Given the description of an element on the screen output the (x, y) to click on. 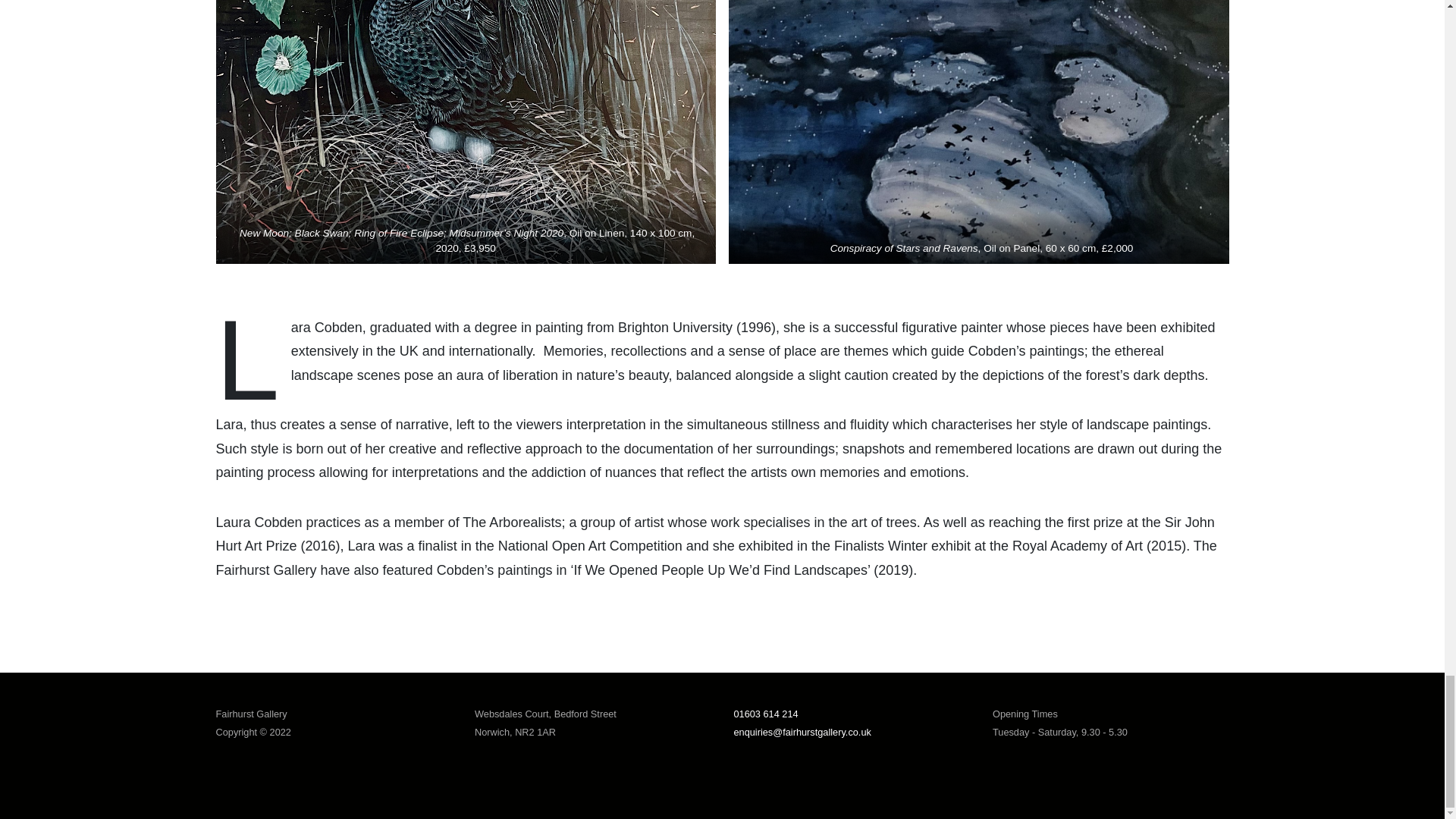
01603 614 214 (765, 713)
